Given the description of an element on the screen output the (x, y) to click on. 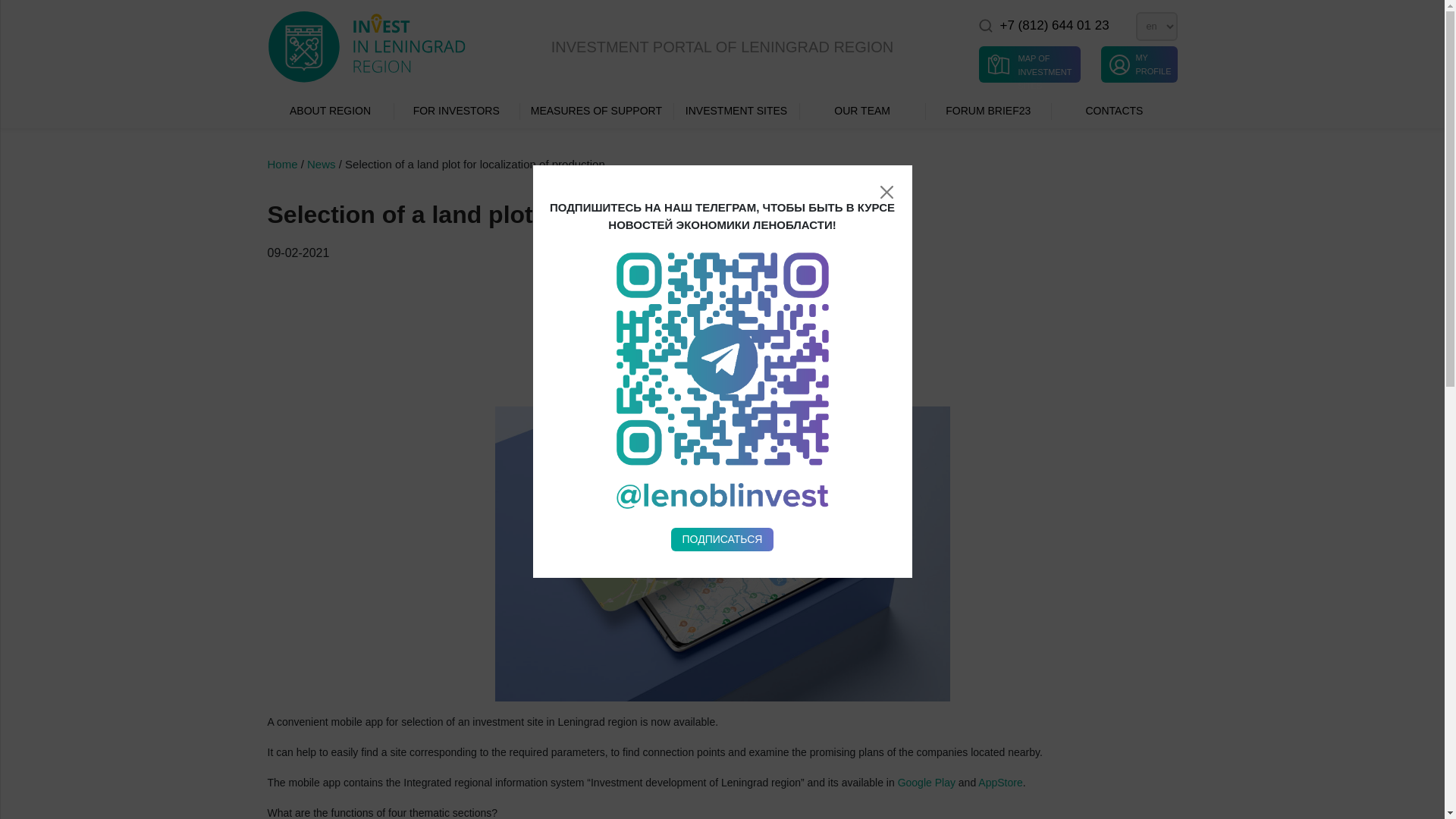
MY PROFILE (1138, 63)
FOR INVESTORS (456, 110)
MEASURES OF SUPPORT (595, 110)
ABOUT REGION (329, 110)
MAP OF INVESTMENT SITES (1029, 63)
